Given the description of an element on the screen output the (x, y) to click on. 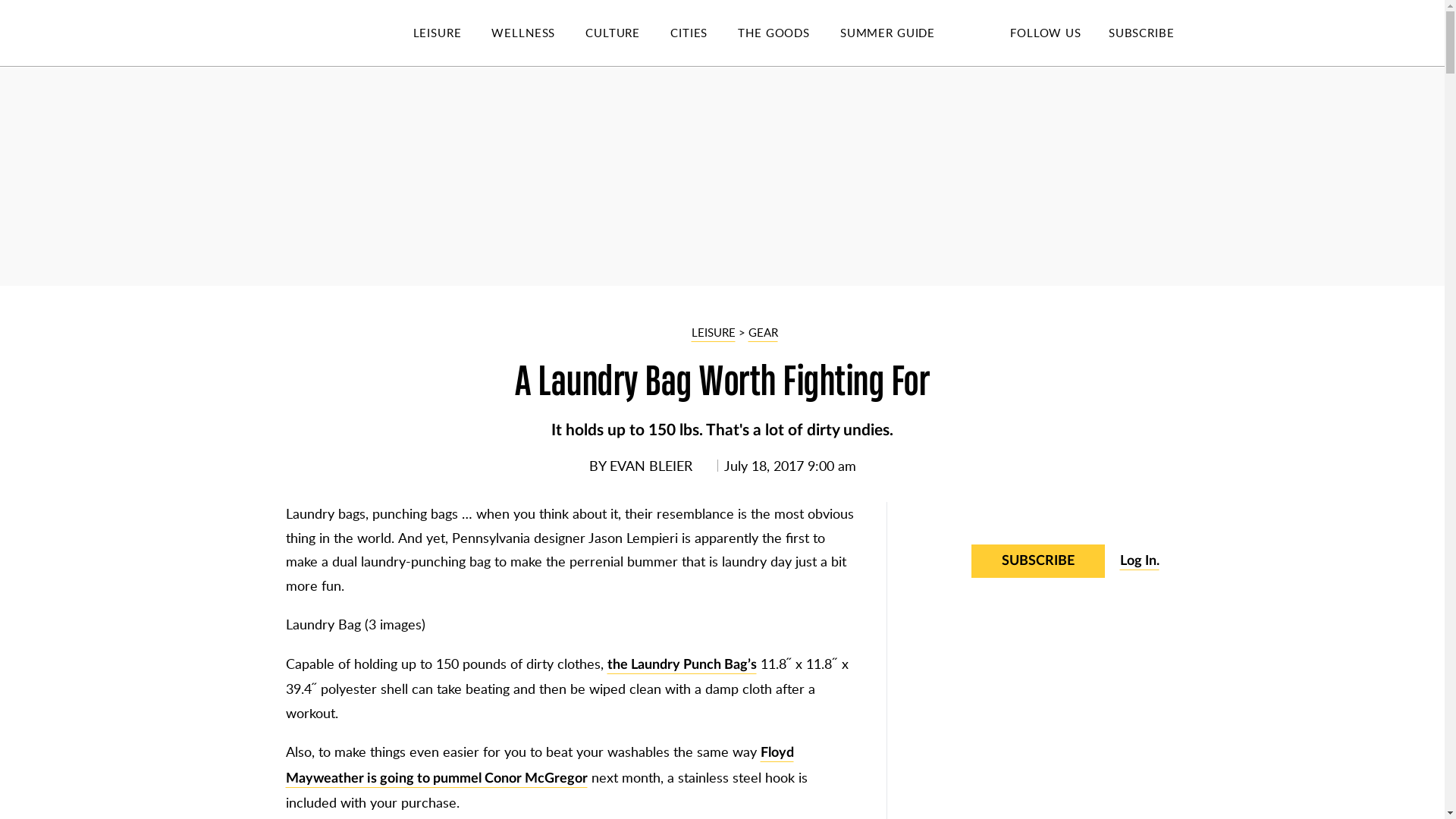
FOLLOW US (1045, 32)
THE GOODS (789, 32)
LEISURE (452, 32)
CULTURE (627, 32)
SUBSCRIBE (1141, 31)
CITIES (703, 32)
WELLNESS (538, 32)
SUMMER GUIDE (902, 32)
